Given the description of an element on the screen output the (x, y) to click on. 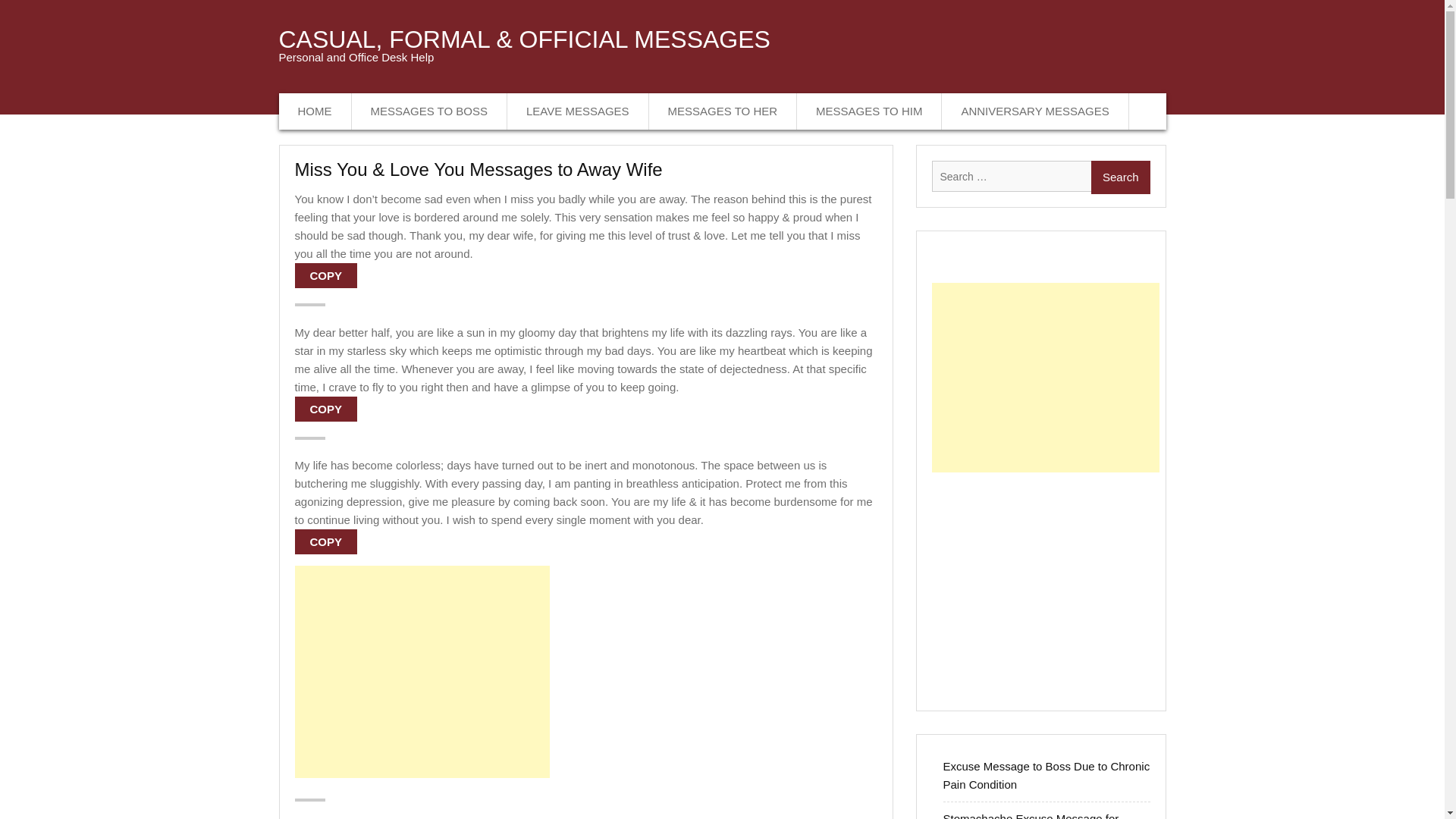
Advertisement (421, 671)
COPY (325, 275)
Excuse Message to Boss Due to Chronic Pain Condition (1046, 775)
Advertisement (1044, 583)
HOME (315, 111)
COPY (325, 407)
Search (1120, 177)
MESSAGES TO HER (723, 111)
Search (1120, 177)
Stomachache Excuse Message for Student (1031, 815)
LEAVE MESSAGES (577, 111)
MESSAGES TO HIM (869, 111)
MESSAGES TO BOSS (430, 111)
Search (1120, 177)
COPY (325, 541)
